Given the description of an element on the screen output the (x, y) to click on. 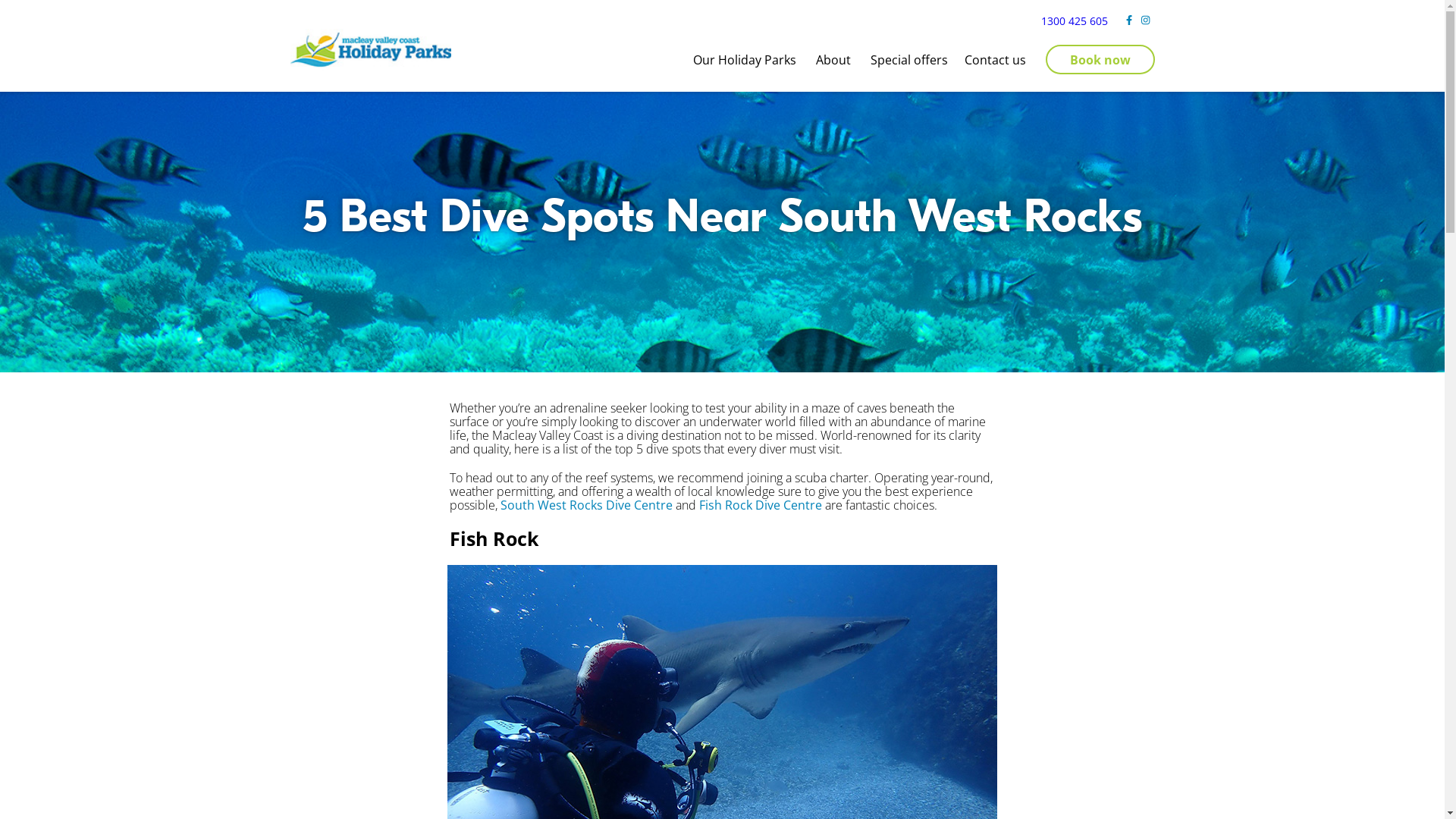
Special offers Element type: text (909, 59)
Fish Rock Dive Centre Element type: text (760, 504)
Contact us Element type: text (995, 59)
About Element type: text (834, 59)
Our Holiday Parks Element type: text (745, 59)
1300 425 605 Element type: text (1074, 20)
South West Rocks Dive Centre Element type: text (586, 504)
Book now Element type: text (1099, 59)
